Given the description of an element on the screen output the (x, y) to click on. 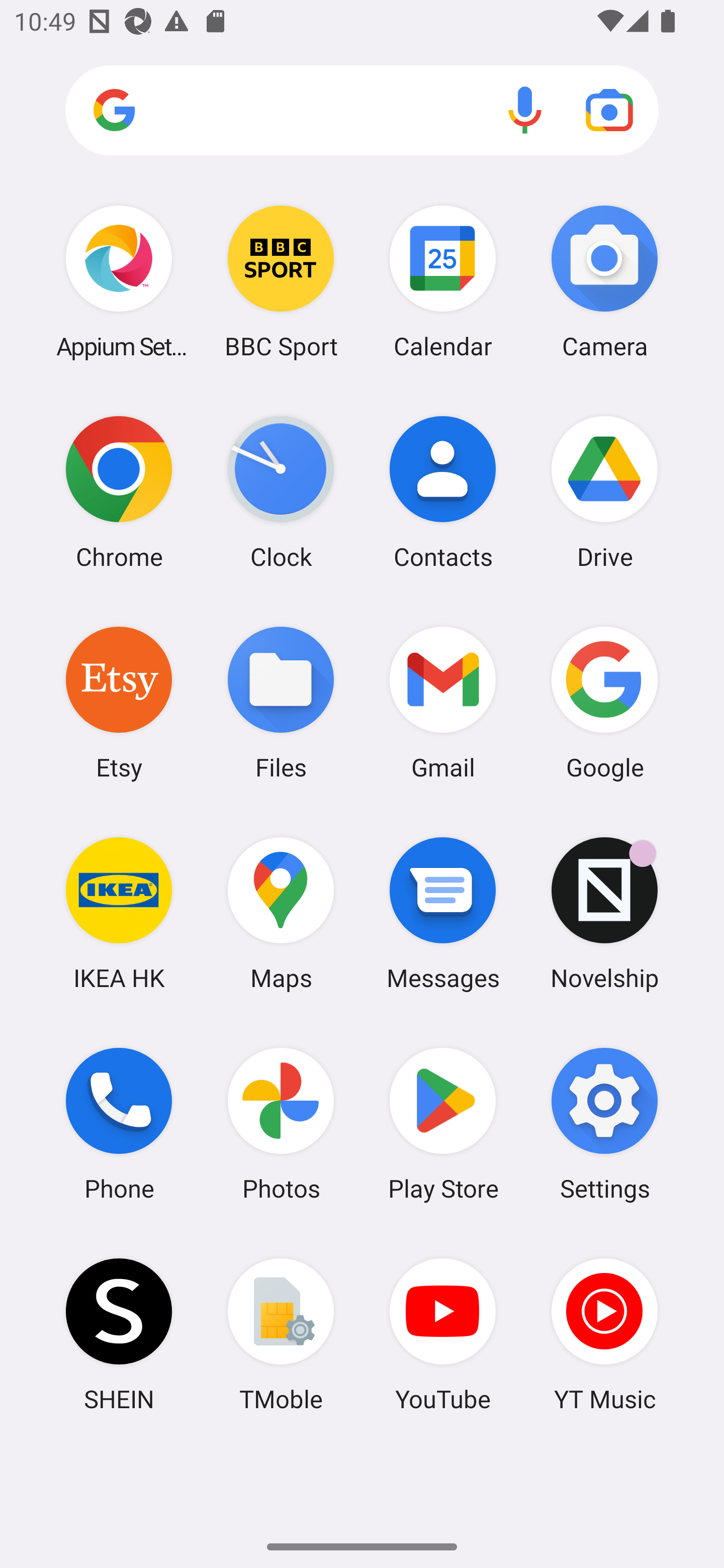
Search apps, web and more (361, 110)
Voice search (524, 109)
Google Lens (608, 109)
Appium Settings (118, 281)
BBC Sport (280, 281)
Calendar (443, 281)
Camera (604, 281)
Chrome (118, 492)
Clock (280, 492)
Contacts (443, 492)
Drive (604, 492)
Etsy (118, 702)
Files (280, 702)
Gmail (443, 702)
Google (604, 702)
IKEA HK (118, 913)
Maps (280, 913)
Messages (443, 913)
Novelship Novelship has 2 notifications (604, 913)
Phone (118, 1124)
Photos (280, 1124)
Play Store (443, 1124)
Settings (604, 1124)
SHEIN (118, 1334)
TMoble (280, 1334)
YouTube (443, 1334)
YT Music (604, 1334)
